Given the description of an element on the screen output the (x, y) to click on. 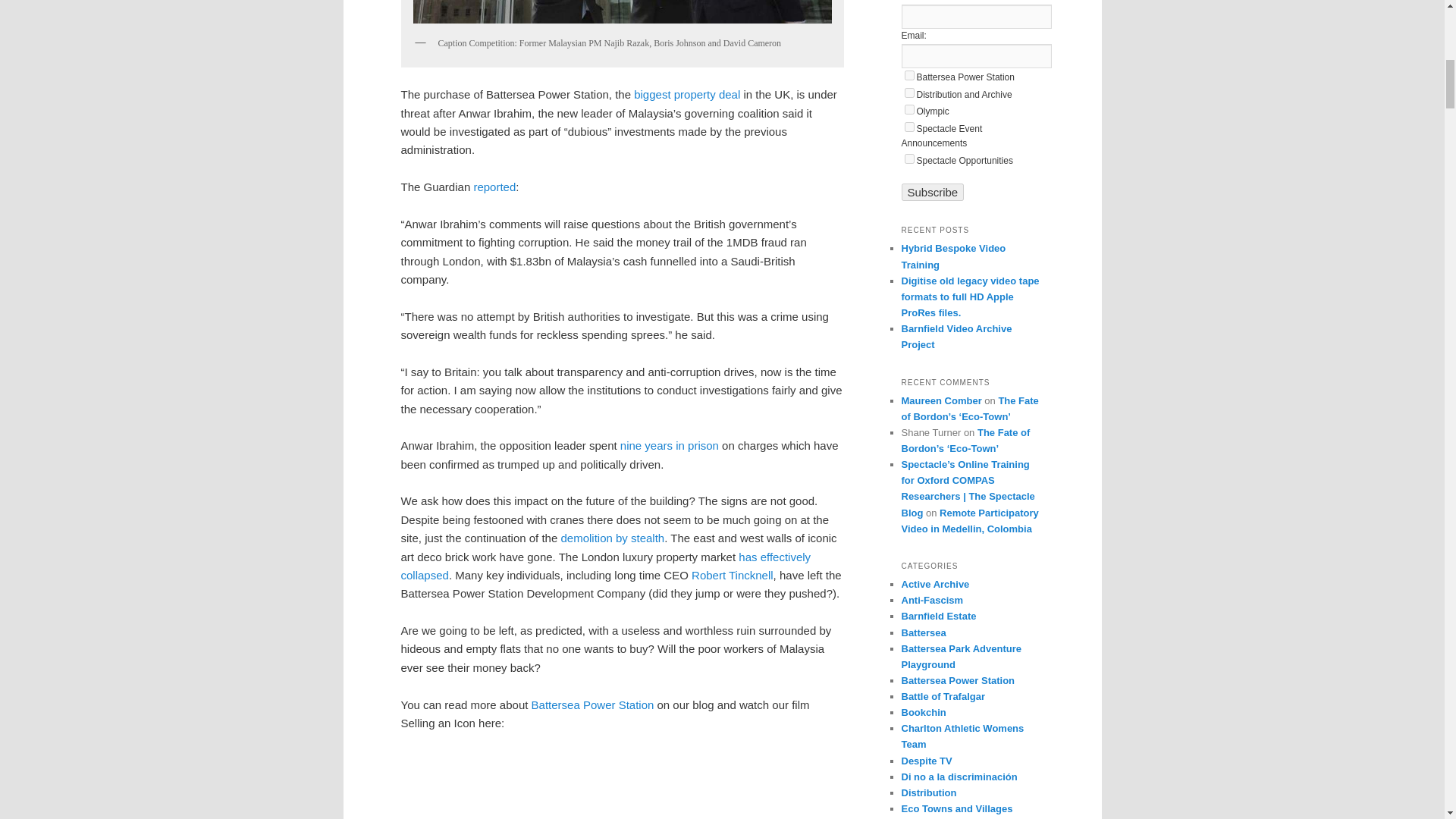
biggest property deal (686, 93)
on (909, 126)
reported (494, 186)
on (909, 109)
on (909, 92)
Battersea Power Station (592, 704)
Robert Tincknell (732, 574)
demolition by stealth (611, 537)
on (909, 158)
on (909, 75)
